Given the description of an element on the screen output the (x, y) to click on. 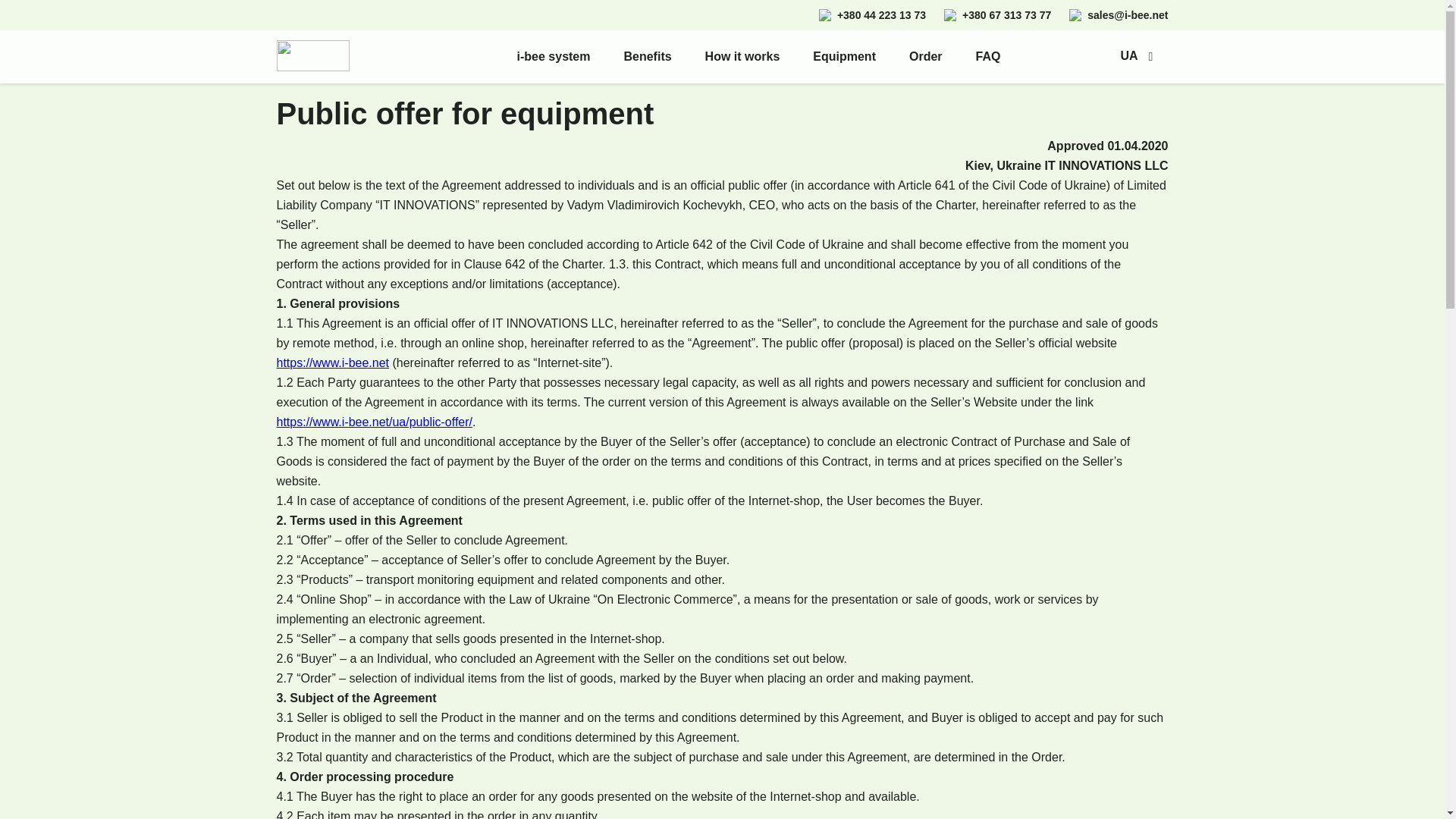
Order (925, 56)
i-bee system (553, 56)
Equipment (844, 56)
How it works (742, 56)
UA (1136, 55)
Benefits (647, 56)
RU (1136, 76)
FAQ (988, 56)
